Given the description of an element on the screen output the (x, y) to click on. 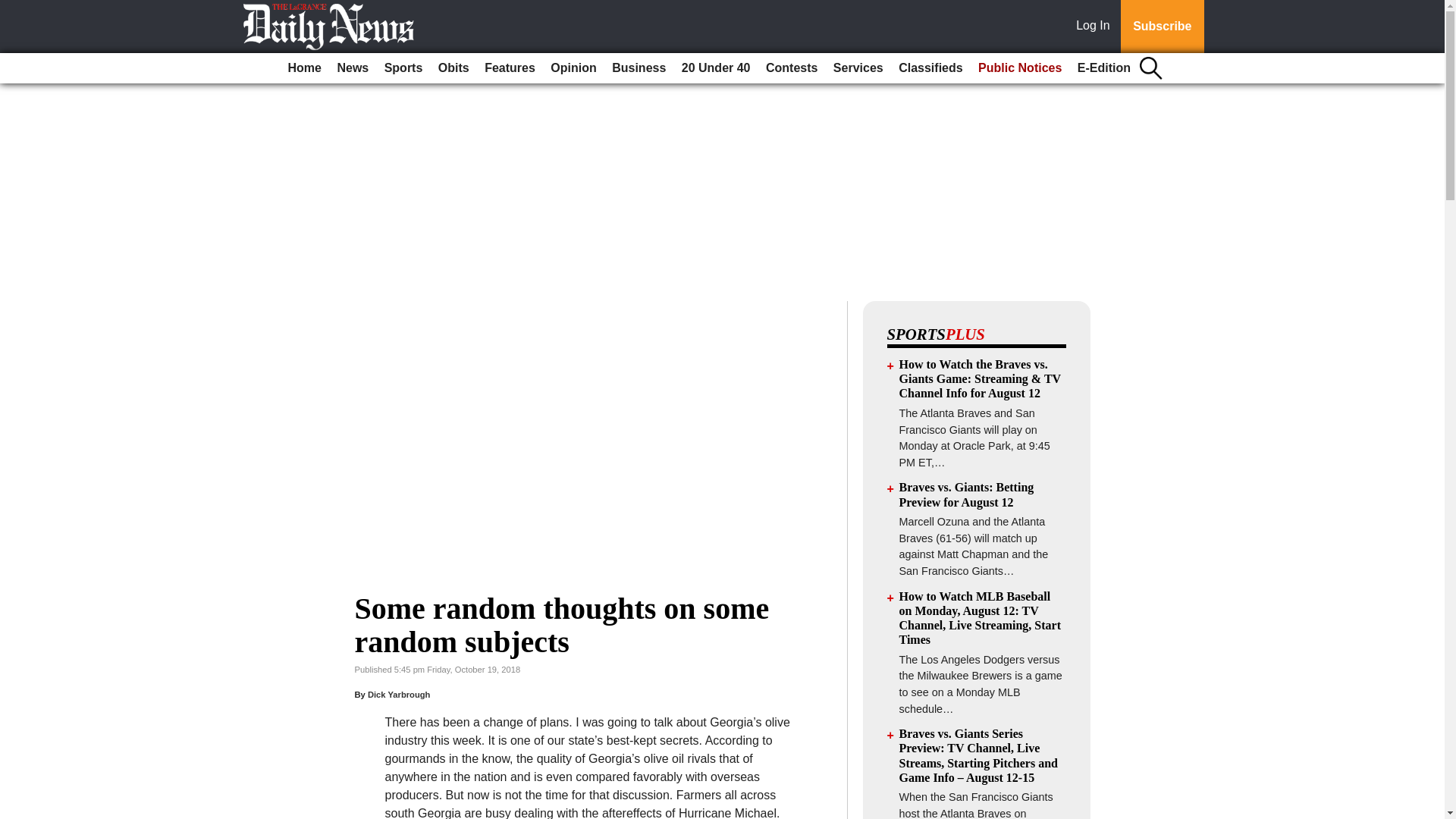
Opinion (573, 68)
Contests (792, 68)
Log In (1095, 26)
Services (858, 68)
E-Edition (1104, 68)
Go (13, 9)
Classifieds (930, 68)
Sports (403, 68)
Business (638, 68)
News (352, 68)
